Given the description of an element on the screen output the (x, y) to click on. 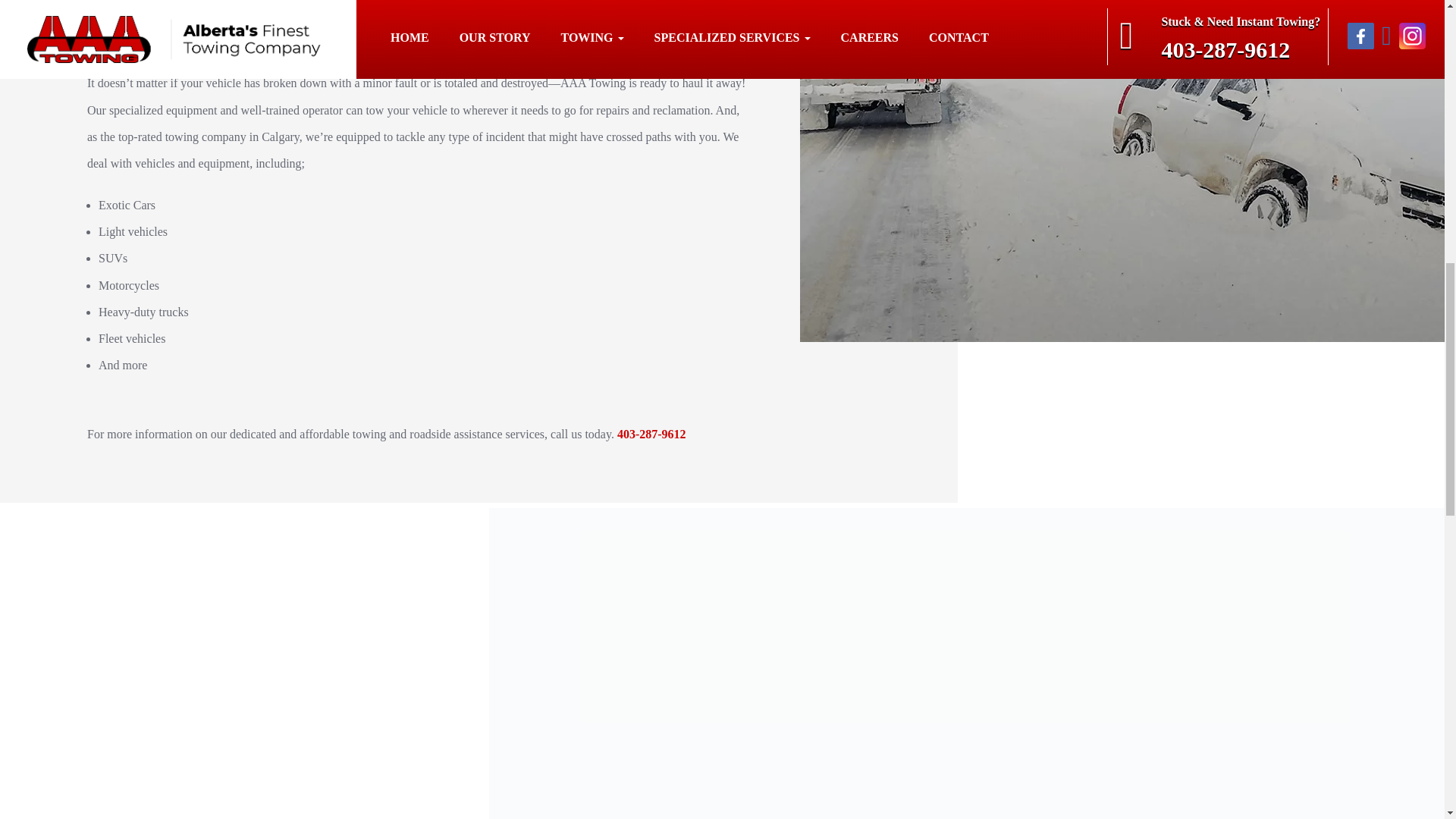
403-287-9612 (651, 433)
